Given the description of an element on the screen output the (x, y) to click on. 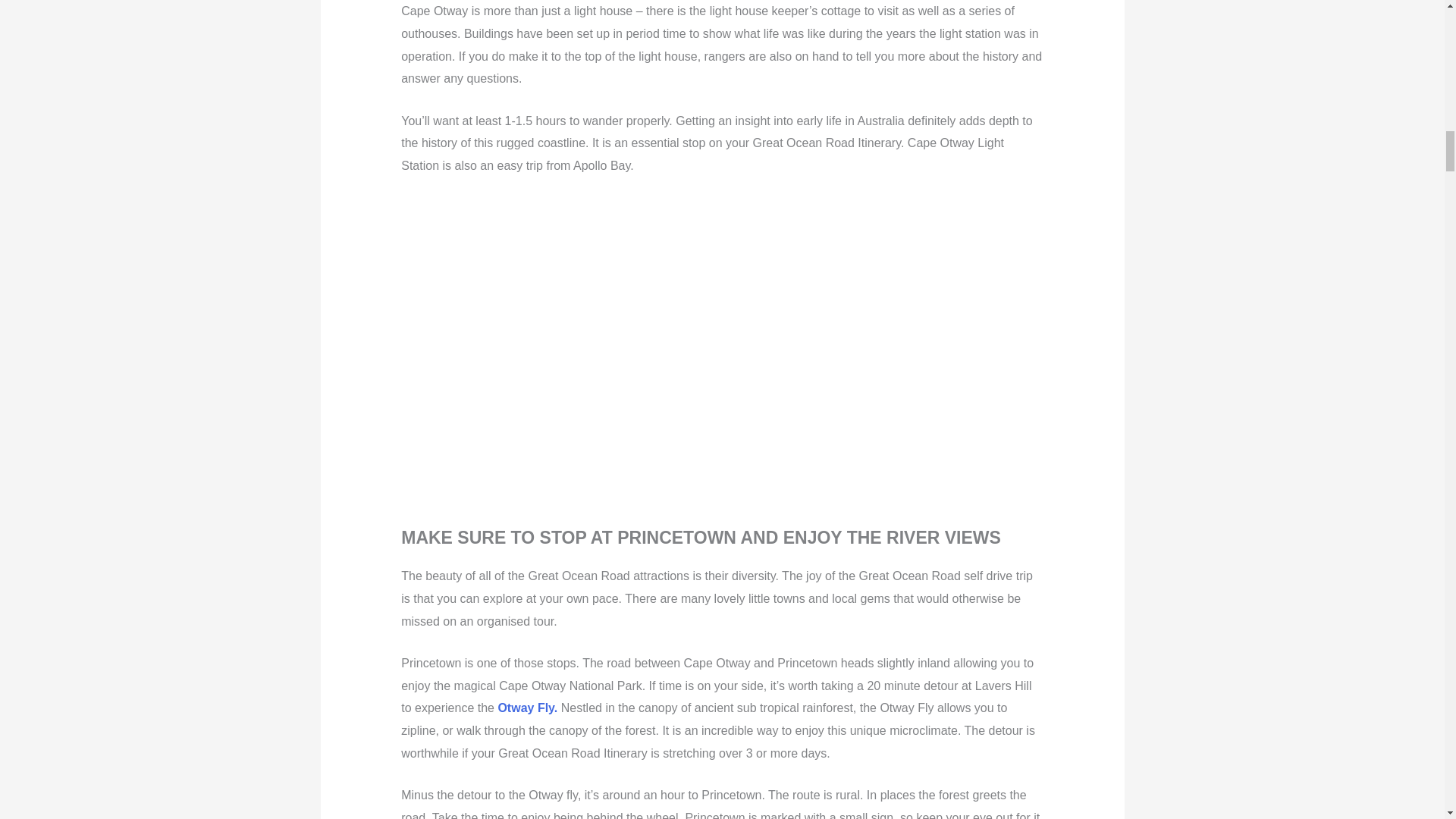
The Best Great Ocean Road Itinerary 4 (674, 354)
